Given the description of an element on the screen output the (x, y) to click on. 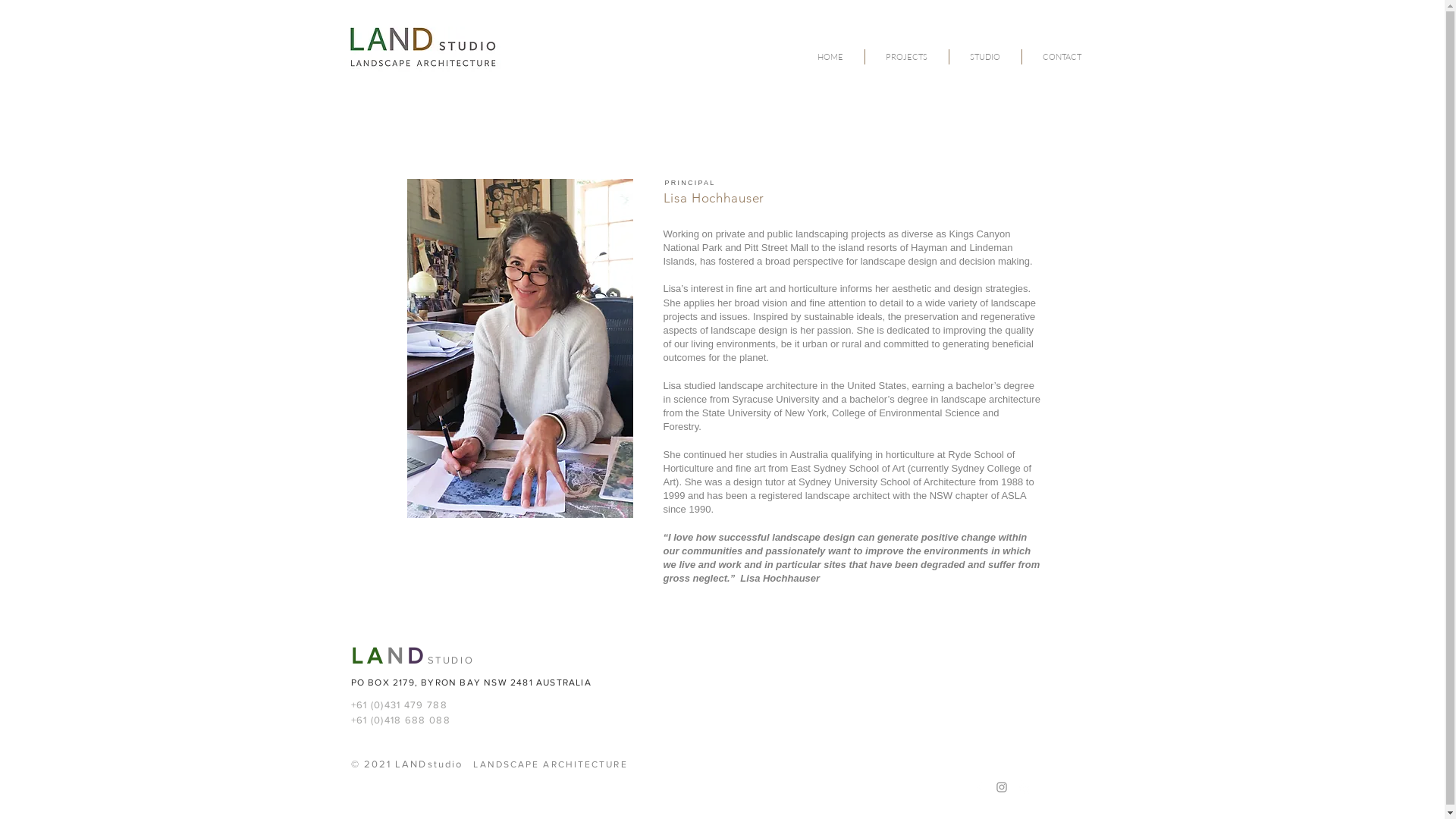
HOME Element type: text (829, 56)
PROJECTS Element type: text (906, 56)
CONTACT Element type: text (1060, 56)
STUDIO Element type: text (983, 56)
